Given the description of an element on the screen output the (x, y) to click on. 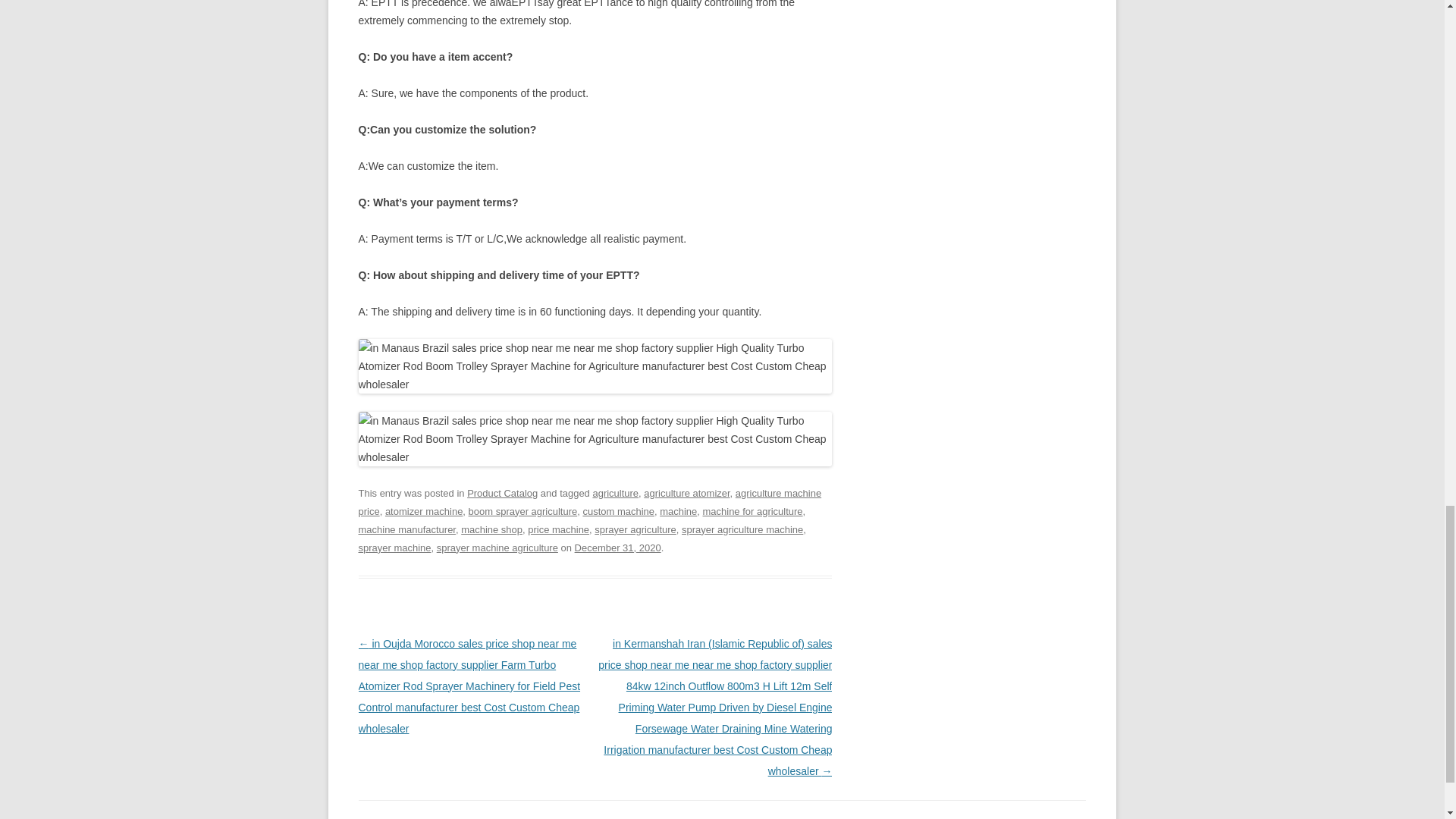
price machine (558, 529)
Product Catalog (502, 492)
atomizer machine (424, 511)
agriculture machine price (589, 501)
agriculture atomizer (686, 492)
machine shop (491, 529)
machine (678, 511)
agriculture (615, 492)
machine for agriculture (751, 511)
